Given the description of an element on the screen output the (x, y) to click on. 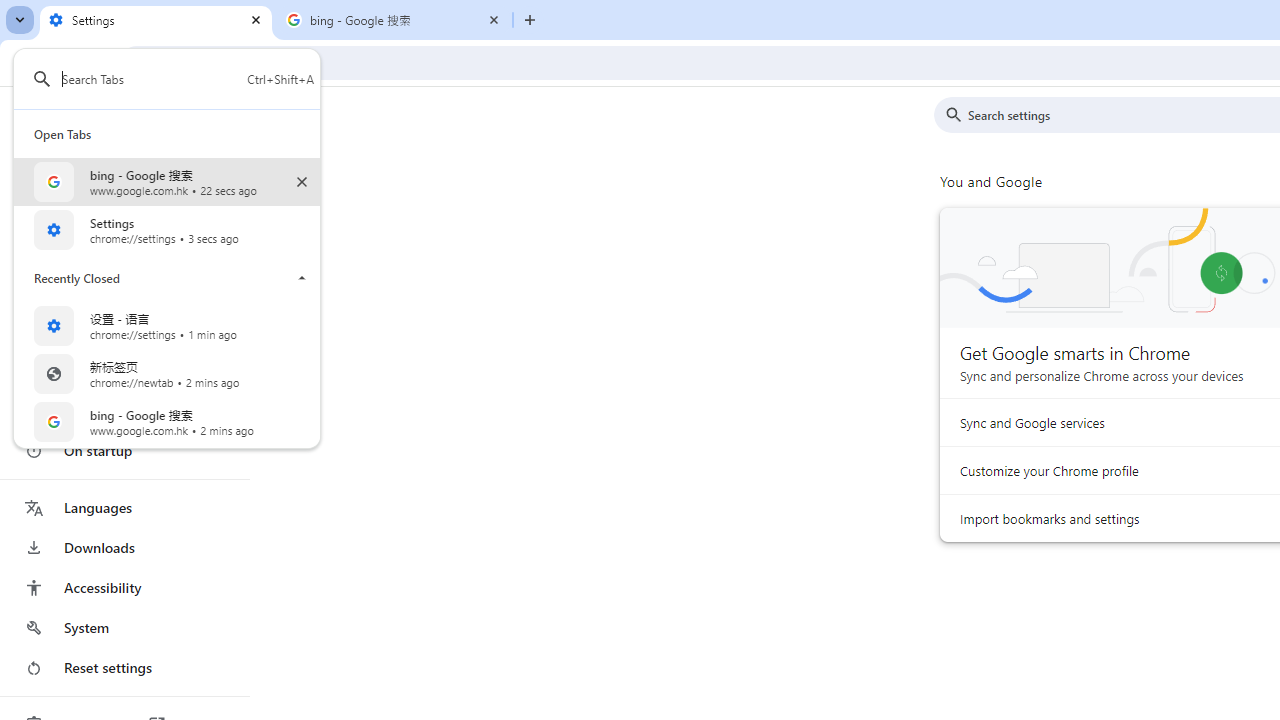
Languages (124, 507)
Downloads (124, 547)
Accessibility (124, 587)
Settings settings 3 secs ago Open Tab (174, 229)
Toggle Recently Closed Items (301, 277)
Reset settings (124, 668)
Search Tabs Ctrl+Shift+A Found 5 Tabs (187, 78)
